Given the description of an element on the screen output the (x, y) to click on. 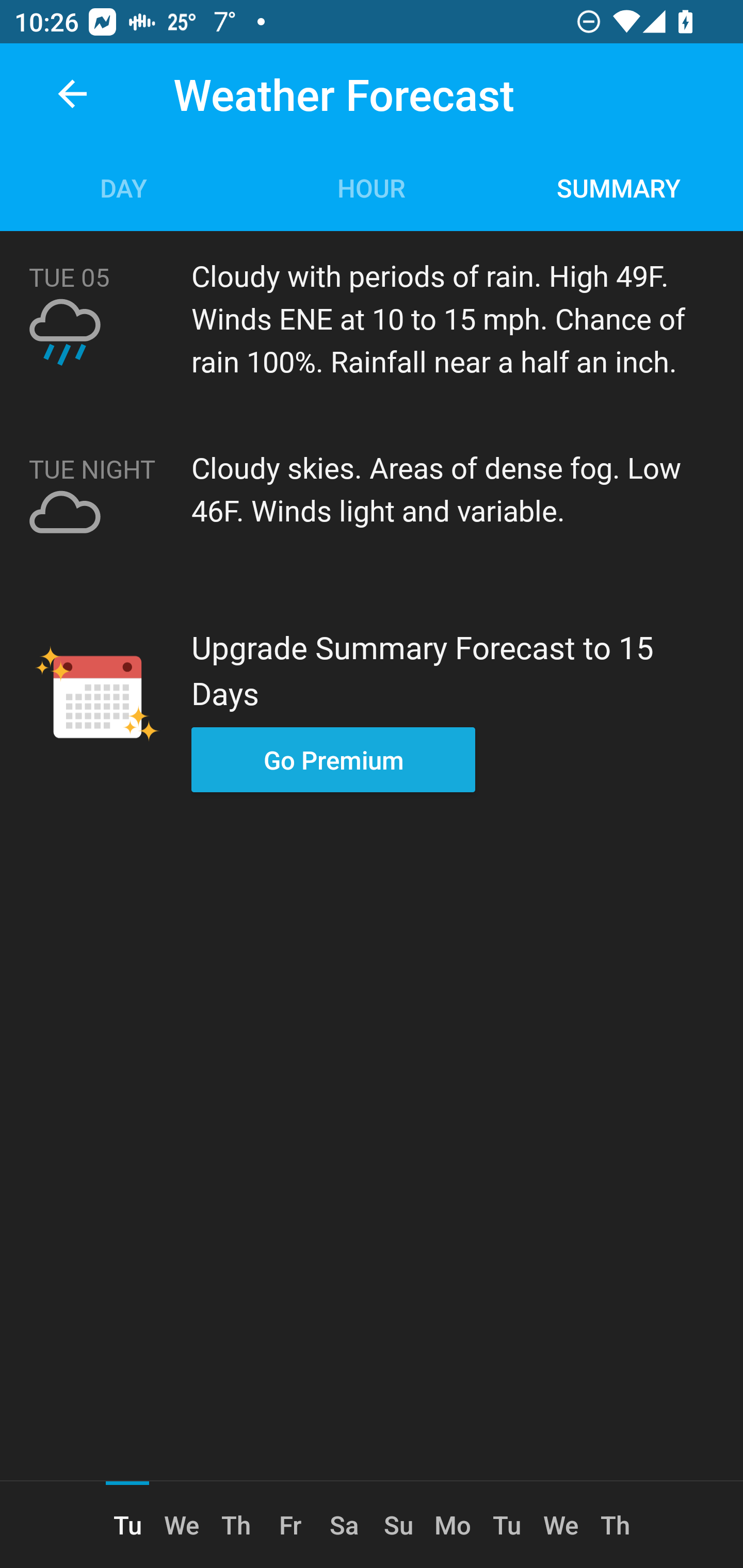
back (71, 93)
Day Tab DAY (123, 187)
Hour Tab HOUR (371, 187)
Go Premium (333, 759)
We (181, 1524)
Th (235, 1524)
Fr (290, 1524)
Sa (344, 1524)
Su (398, 1524)
Mo (452, 1524)
Tu (506, 1524)
We (561, 1524)
Th (615, 1524)
